Given the description of an element on the screen output the (x, y) to click on. 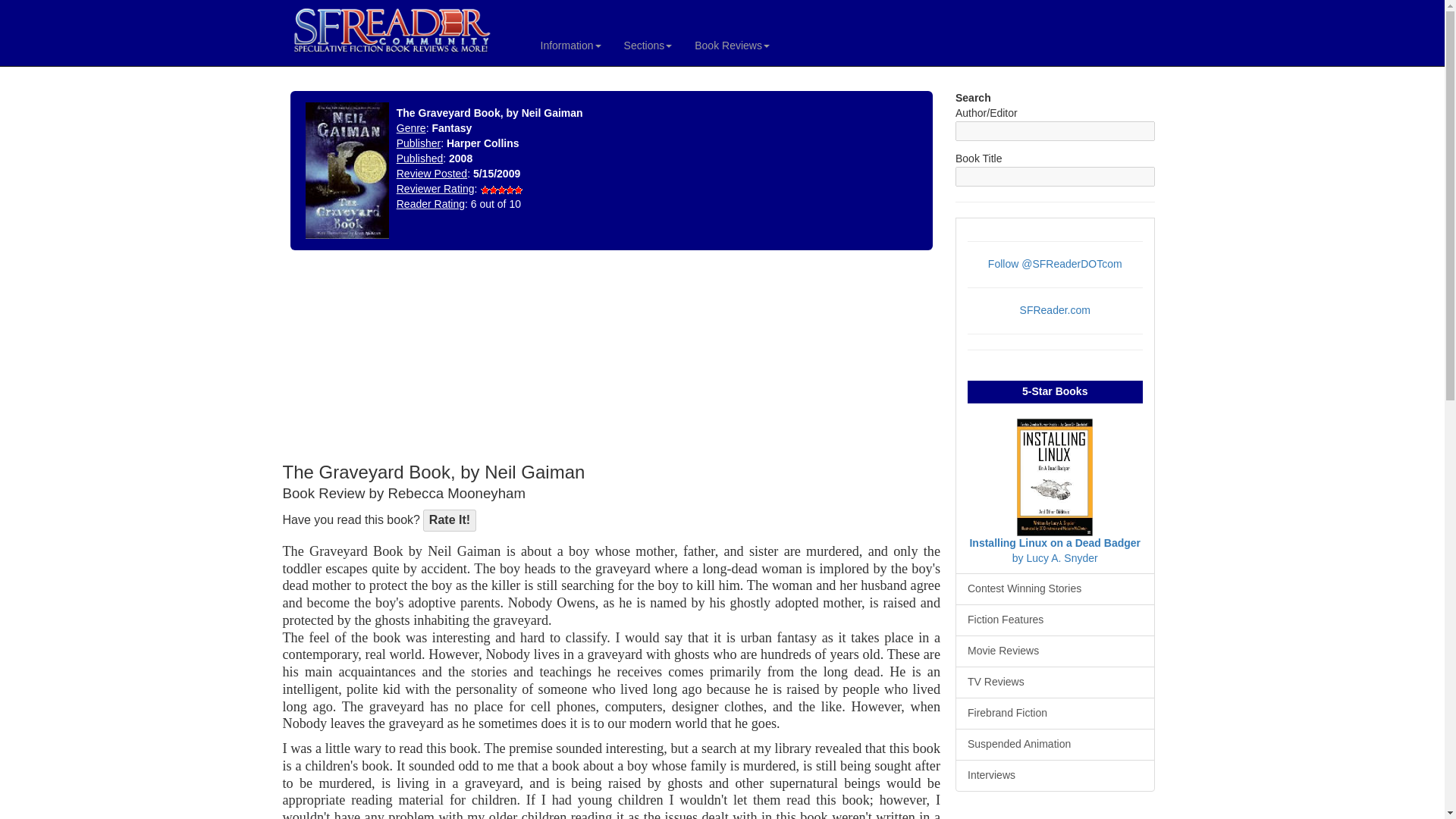
sfreader movie reviews (1054, 651)
Rate It! (449, 520)
Sections (648, 45)
SFReader author interview archives (1054, 775)
Advertisement (392, 360)
Information (570, 45)
Suspended Animation comic review archives (1054, 744)
SFReader Firebrand Fiction archives (1054, 713)
Book Reviews (731, 45)
sfreader fiction feature stories (1054, 620)
